Given the description of an element on the screen output the (x, y) to click on. 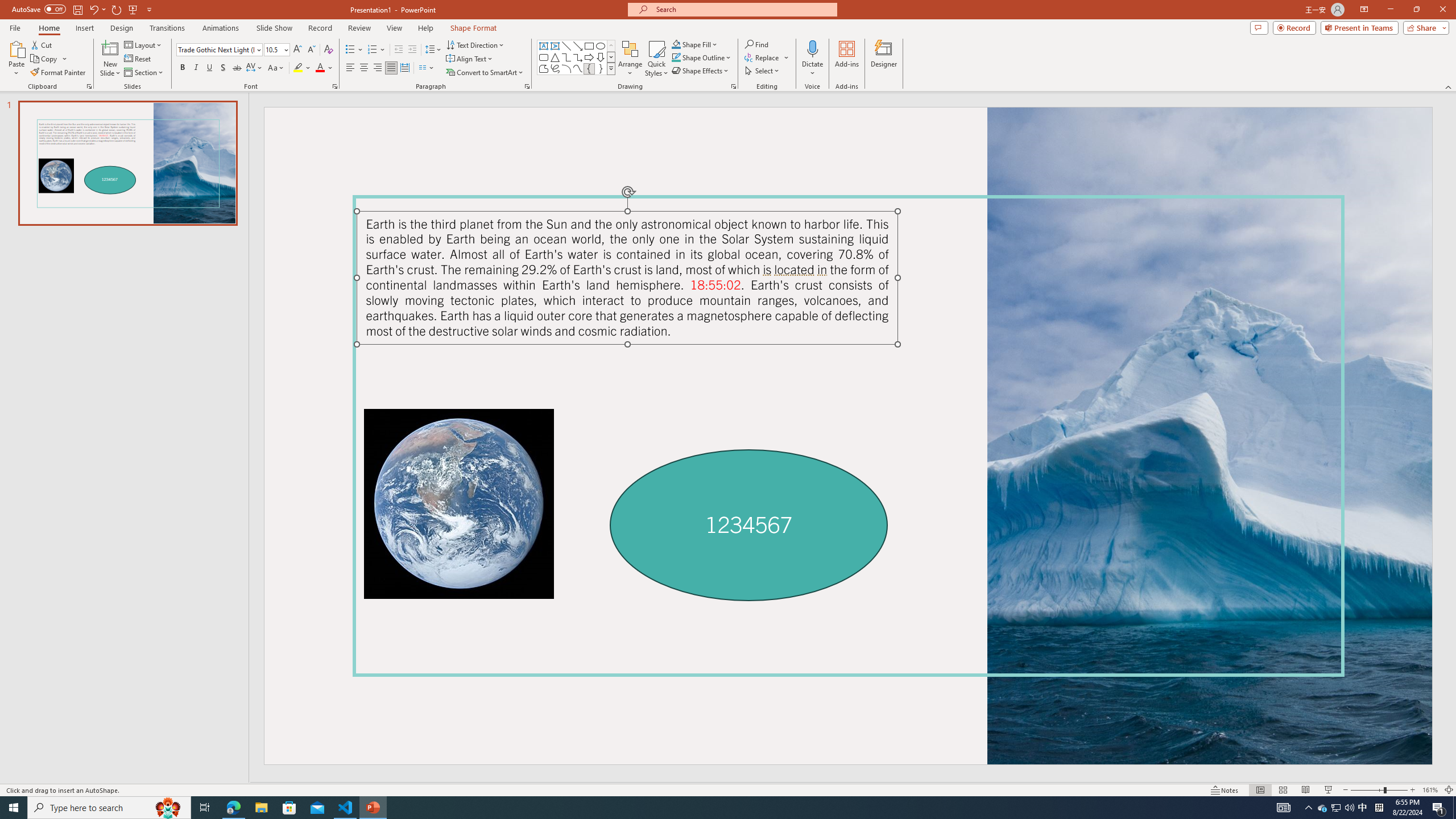
Arrow: Right (589, 57)
Freeform: Scribble (554, 68)
Line Arrow (577, 45)
Curve (577, 68)
Arrow: Down (600, 57)
Microsoft search (742, 9)
Numbering (372, 49)
Zoom 161% (1430, 790)
Decrease Indent (398, 49)
Connector: Elbow Arrow (577, 57)
Open (285, 49)
